Given the description of an element on the screen output the (x, y) to click on. 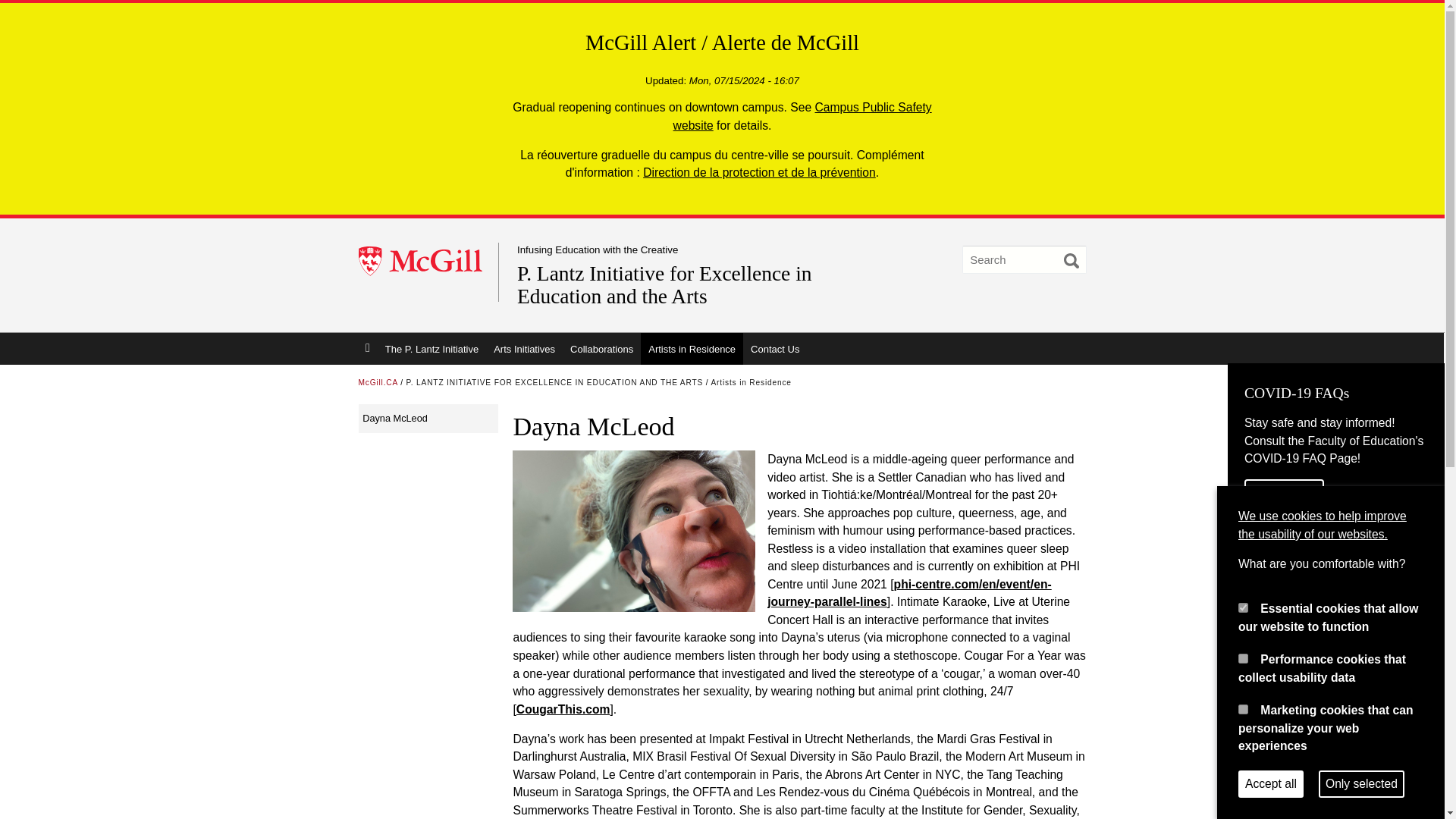
Search (1070, 260)
McGill.CA (377, 382)
Contact Us (774, 348)
required (1243, 607)
McGill University (427, 262)
marketing (1243, 709)
Collaborations (601, 348)
Dayna McLeod (427, 418)
Artists in Residence (691, 348)
P. LANTZ INITIATIVE FOR EXCELLENCE IN EDUCATION AND THE ARTS (554, 382)
Artists in Residence (751, 382)
Arts Initiatives (524, 348)
CougarThis.com (563, 708)
performance (1243, 658)
Accept all (1271, 783)
